Given the description of an element on the screen output the (x, y) to click on. 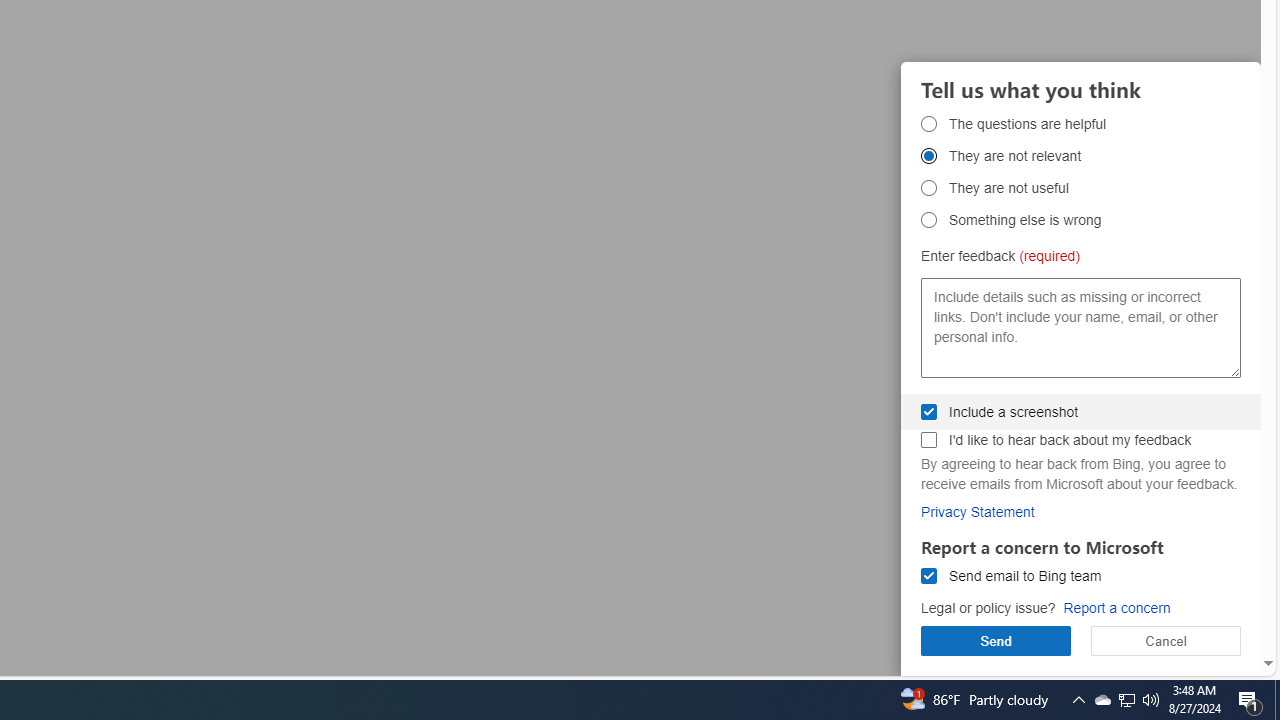
AutomationID: fbpgdgnotrel (928, 156)
AutomationID: fbpgdgnothelp (928, 187)
AutomationID: fbpgdgml (928, 575)
AutomationID: fbpgdgsschk (928, 411)
